Given the description of an element on the screen output the (x, y) to click on. 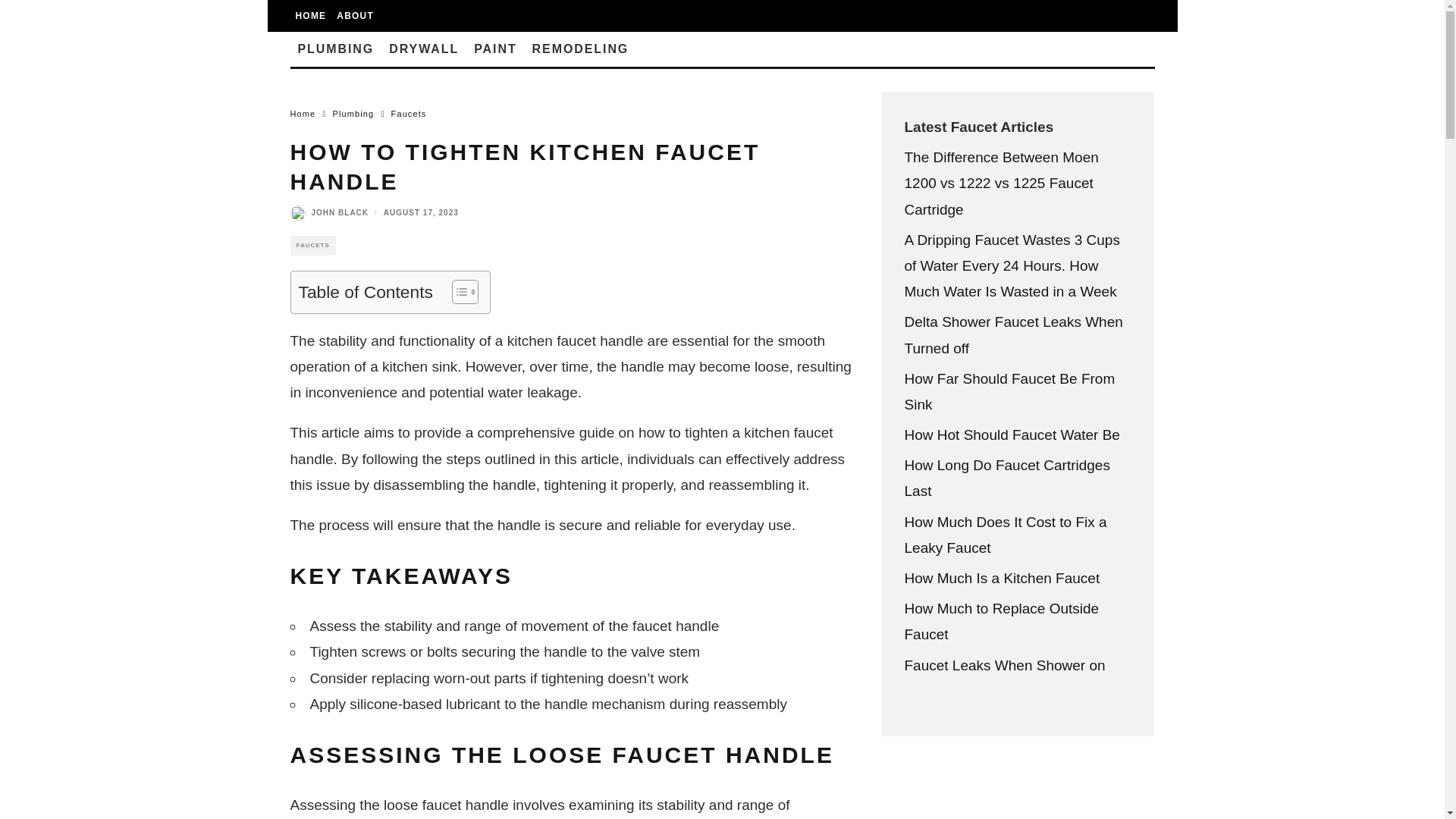
JOHN BLACK (339, 212)
PLUMBING (335, 48)
Home (302, 112)
FAUCETS (311, 245)
Faucets (408, 112)
Plumbing (353, 112)
PAINT (494, 48)
REMODELING (580, 48)
DRYWALL (423, 48)
ABOUT (354, 15)
HOME (310, 15)
